Given the description of an element on the screen output the (x, y) to click on. 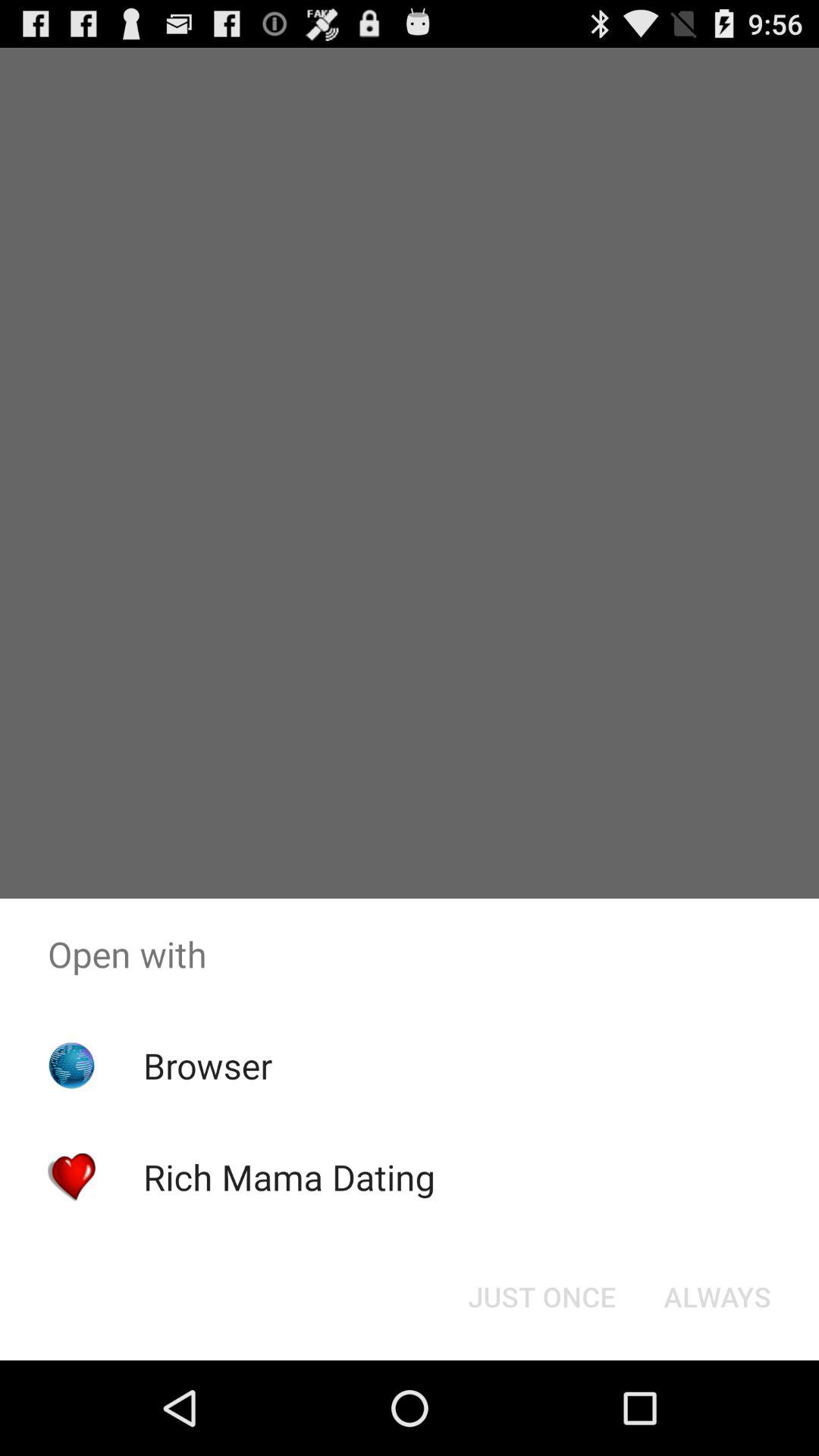
select item next to the just once button (717, 1296)
